Given the description of an element on the screen output the (x, y) to click on. 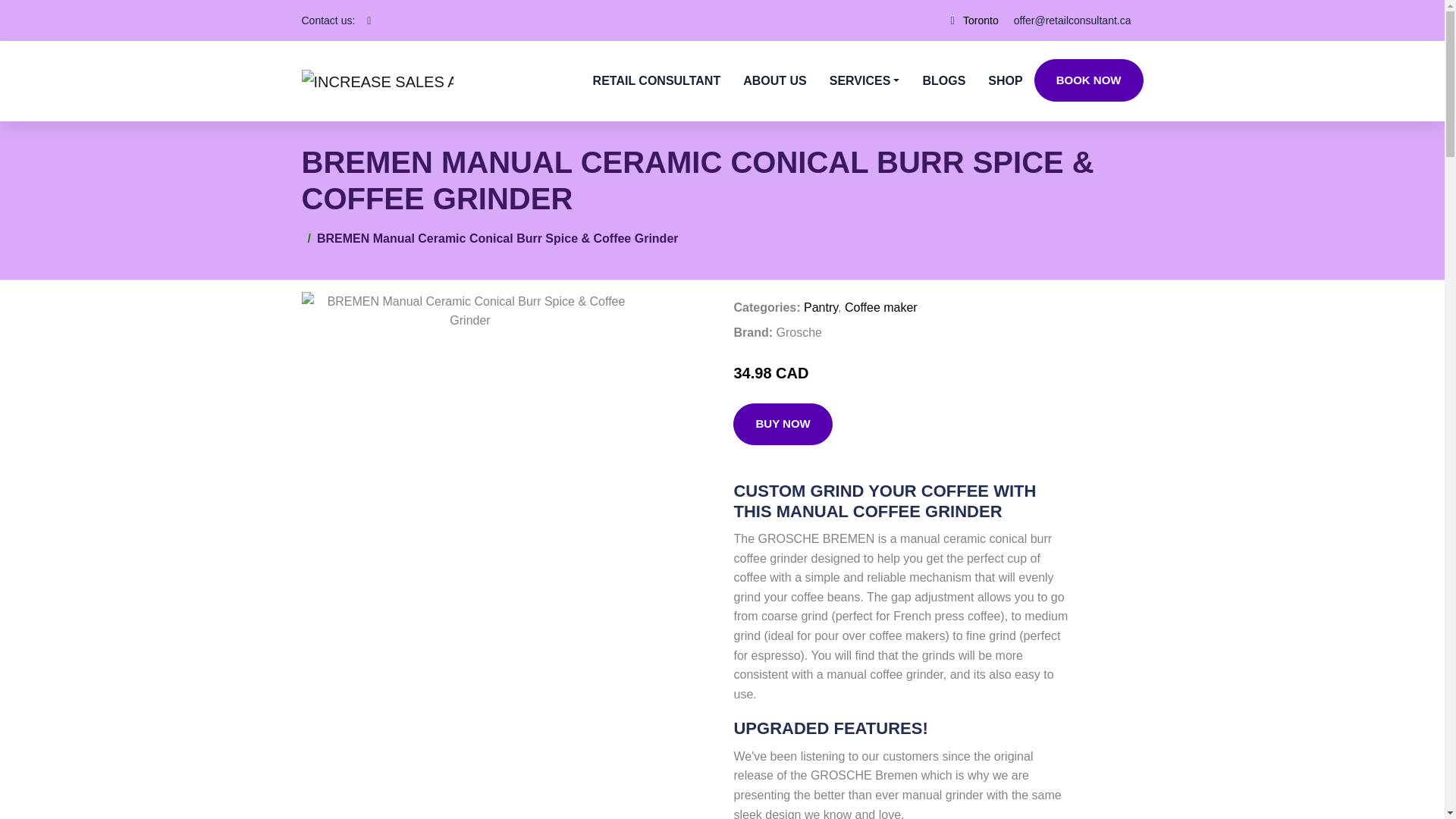
Toronto (980, 20)
BUY NOW (782, 424)
RETAIL CONSULTANT (656, 80)
Pantry (820, 307)
SERVICES (864, 80)
ABOUT US (775, 80)
BOOK NOW (1087, 79)
Coffee maker (880, 307)
